Given the description of an element on the screen output the (x, y) to click on. 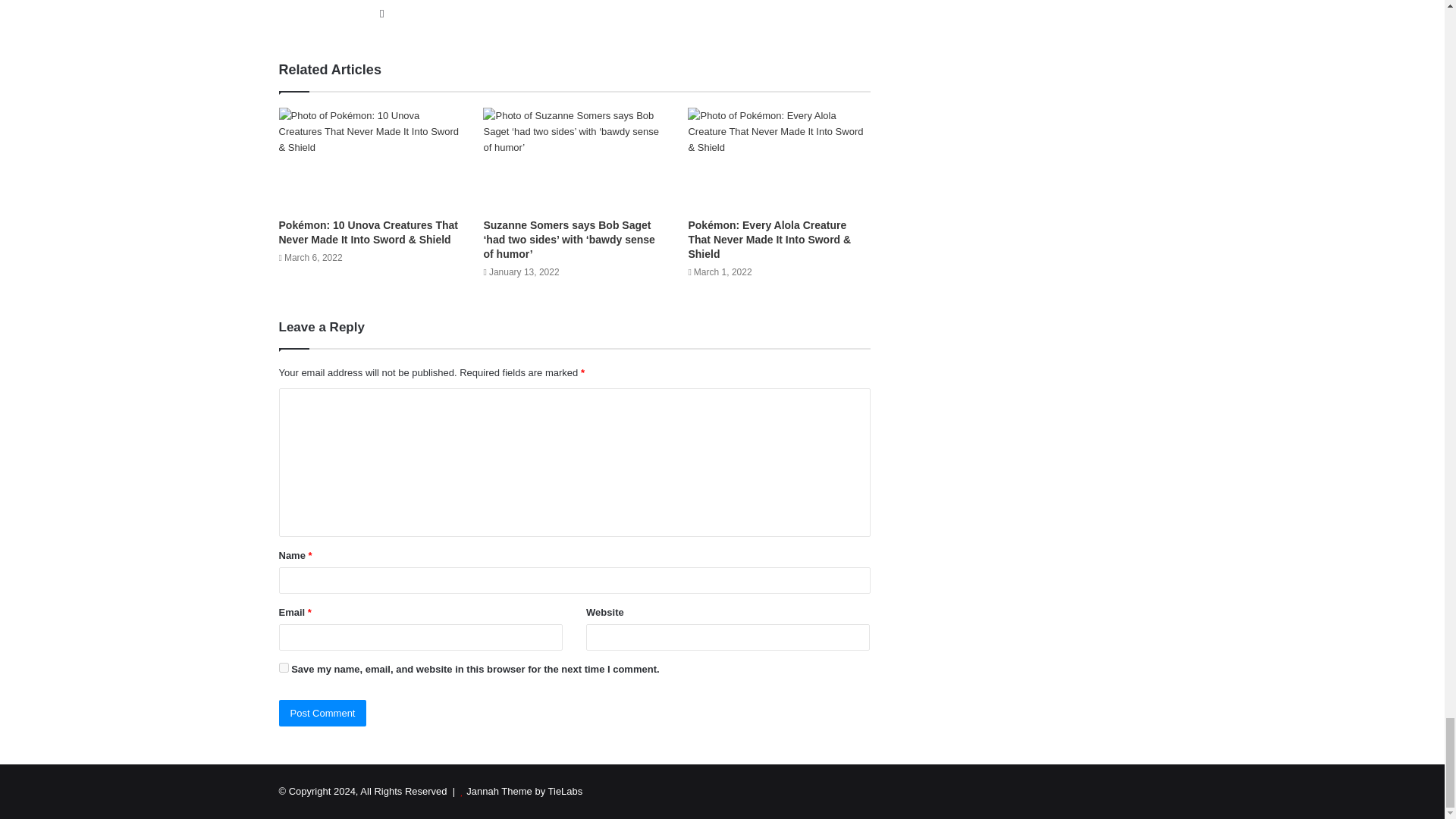
yes (283, 667)
Website (381, 13)
Post Comment (322, 713)
